Given the description of an element on the screen output the (x, y) to click on. 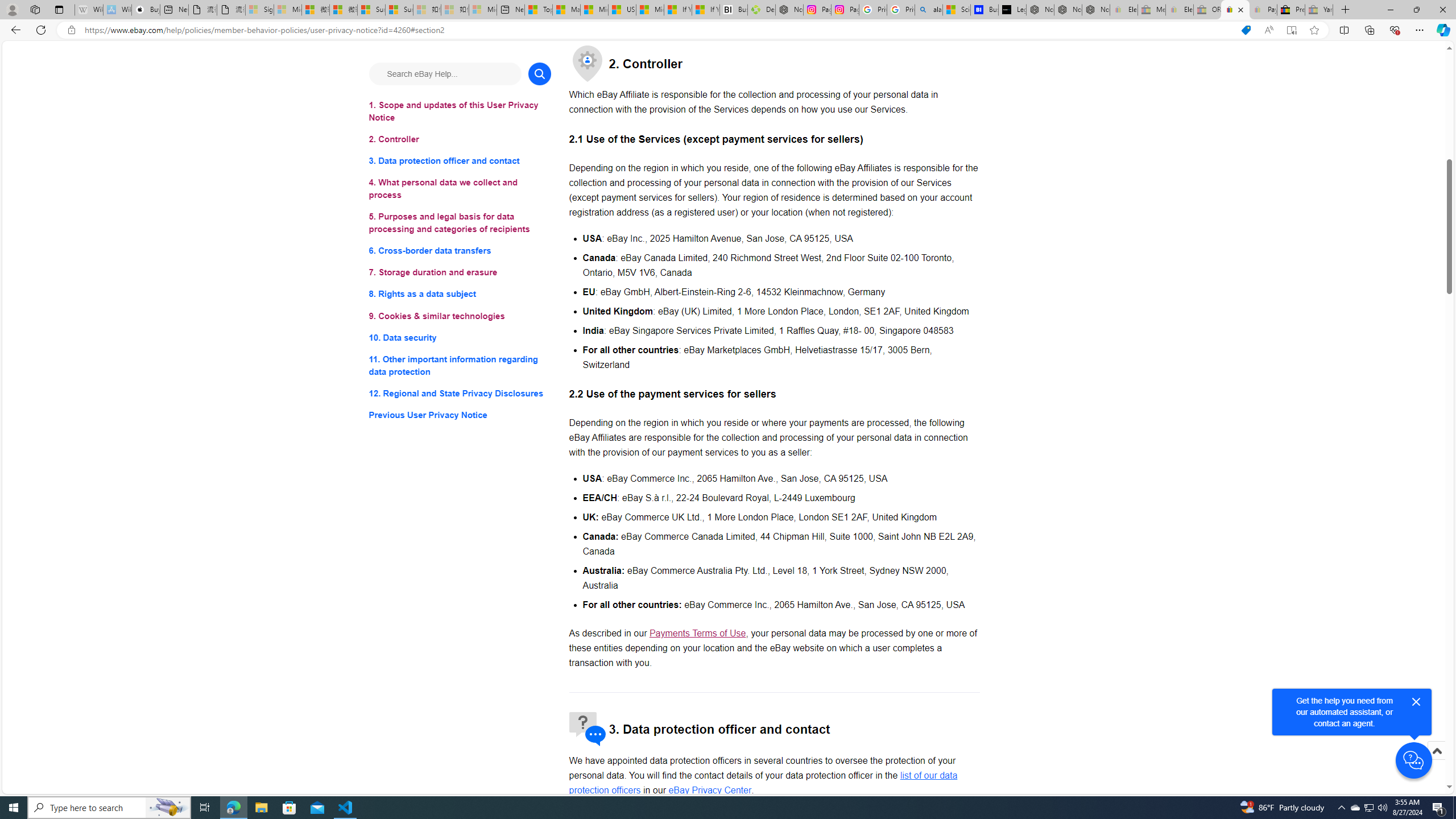
3. Data protection officer and contact (459, 160)
Payments Terms of Use | eBay.com - Sleeping (1262, 9)
Microsoft Services Agreement - Sleeping (288, 9)
alabama high school quarterback dies - Search (928, 9)
